Given the description of an element on the screen output the (x, y) to click on. 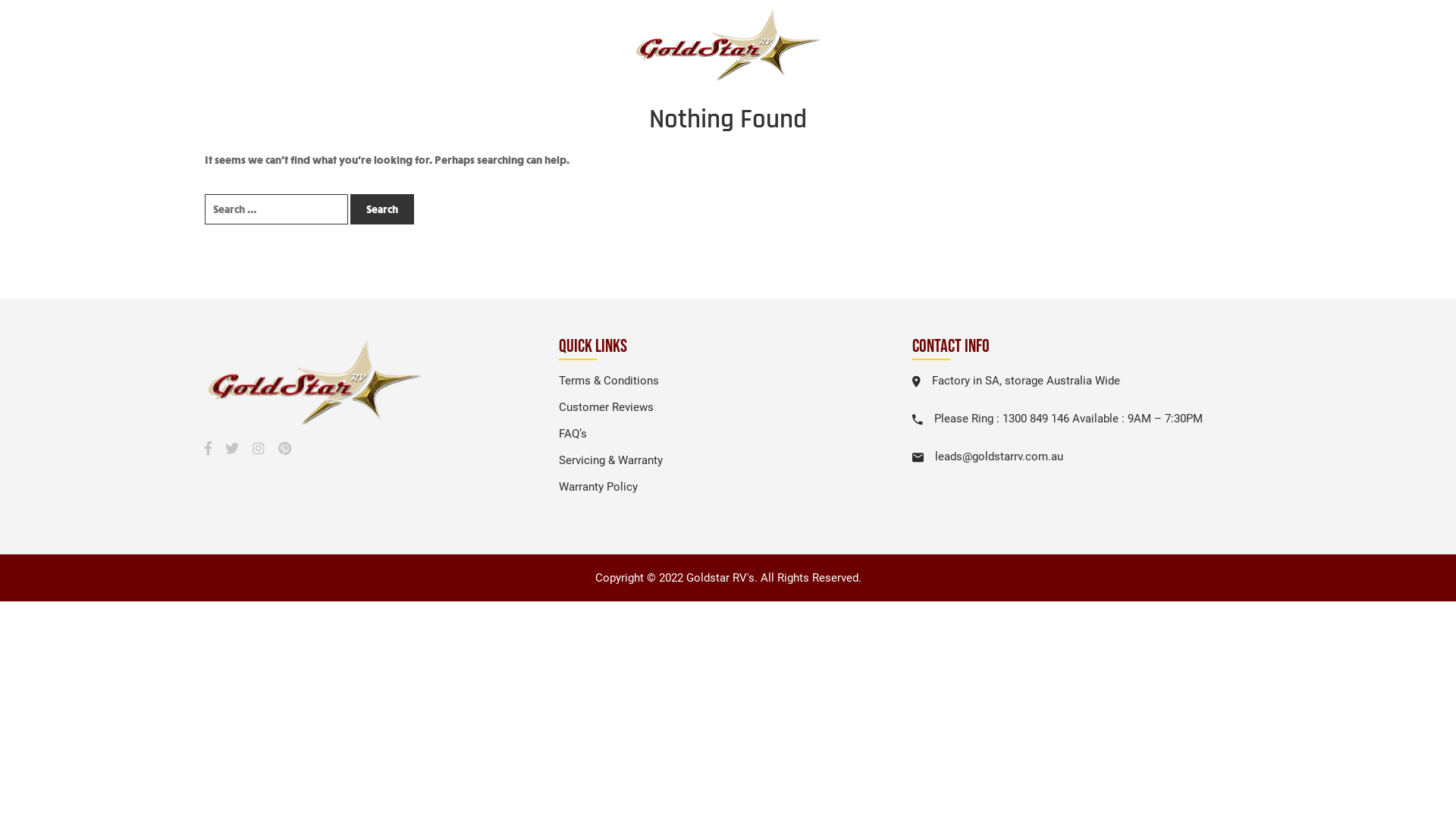
Servicing & Warranty Element type: text (610, 460)
Search Element type: text (382, 209)
Customer Reviews Element type: text (605, 407)
Terms & Conditions Element type: text (608, 380)
Warranty Policy Element type: text (597, 486)
